Given the description of an element on the screen output the (x, y) to click on. 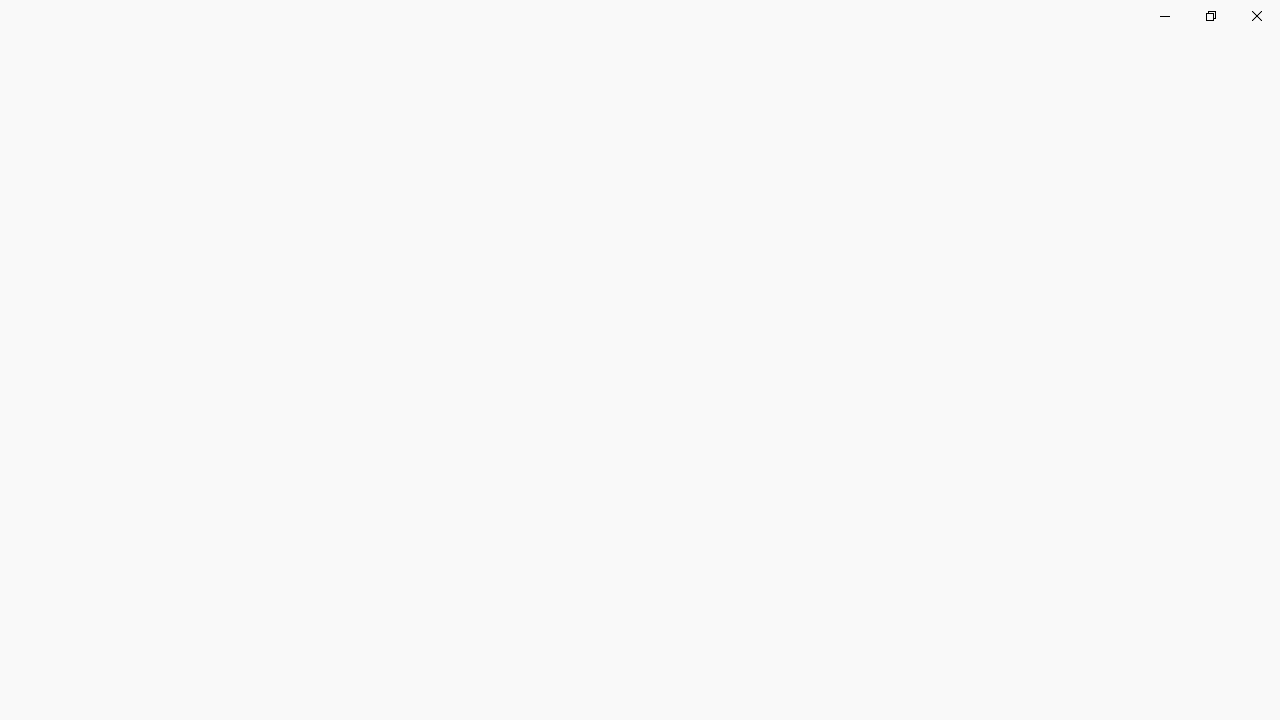
Close Clock (1256, 15)
Minimize Clock (1164, 15)
Restore Clock (1210, 15)
